Given the description of an element on the screen output the (x, y) to click on. 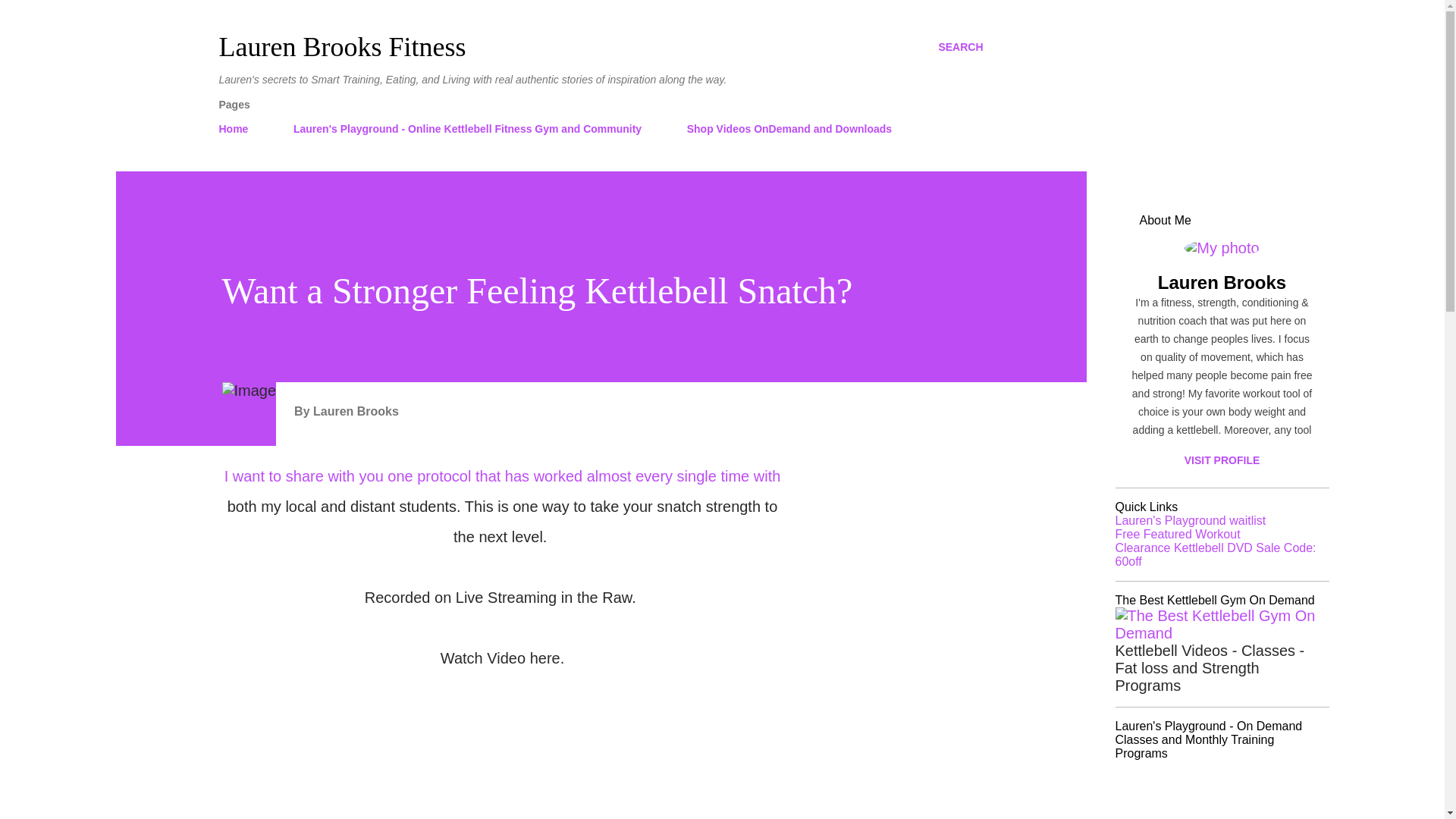
Lauren Brooks (355, 410)
author profile (355, 410)
Home (237, 128)
Lauren Brooks Fitness (341, 46)
SEARCH (959, 46)
Shop Videos OnDemand and Downloads (789, 128)
